Given the description of an element on the screen output the (x, y) to click on. 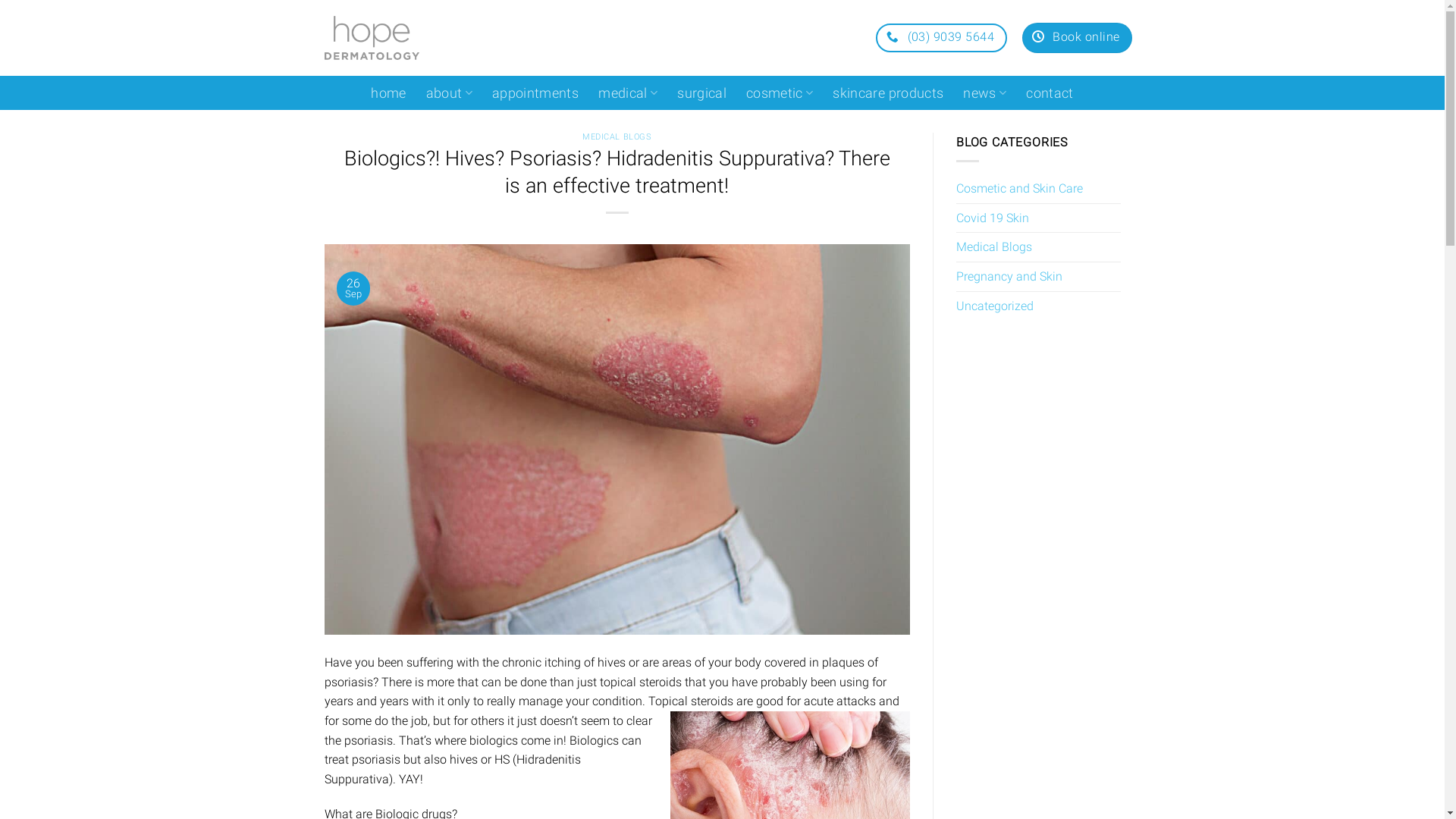
Covid 19 Skin Element type: text (992, 217)
Uncategorized Element type: text (994, 305)
Book online Element type: text (1077, 37)
Hope Dermatology - Just another WordPress site Element type: hover (371, 37)
Medical Blogs Element type: text (994, 246)
cosmetic Element type: text (779, 92)
Cosmetic and Skin Care Element type: text (1019, 188)
medical Element type: text (627, 92)
(03) 9039 5644 Element type: text (941, 38)
Pregnancy and Skin Element type: text (1009, 276)
surgical Element type: text (701, 92)
skincare products Element type: text (887, 92)
contact Element type: text (1049, 92)
MEDICAL BLOGS Element type: text (616, 136)
news Element type: text (984, 92)
home Element type: text (387, 92)
about Element type: text (449, 92)
Skip to content Element type: text (0, 0)
appointments Element type: text (535, 92)
